Given the description of an element on the screen output the (x, y) to click on. 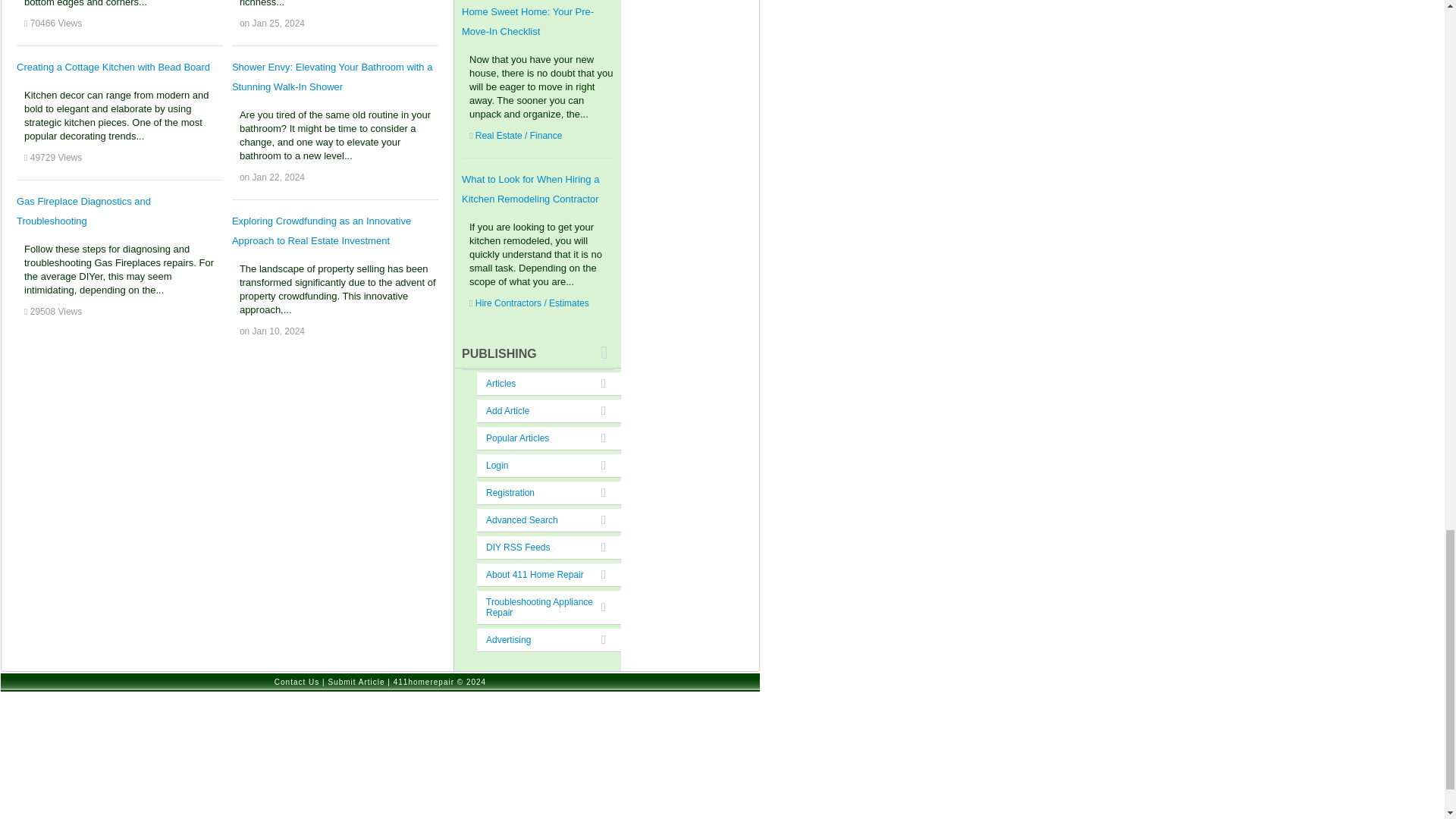
Creating a Cottage Kitchen with Bead Board (112, 66)
Gas Fireplace Diagnostics and Troubleshooting (83, 210)
